Given the description of an element on the screen output the (x, y) to click on. 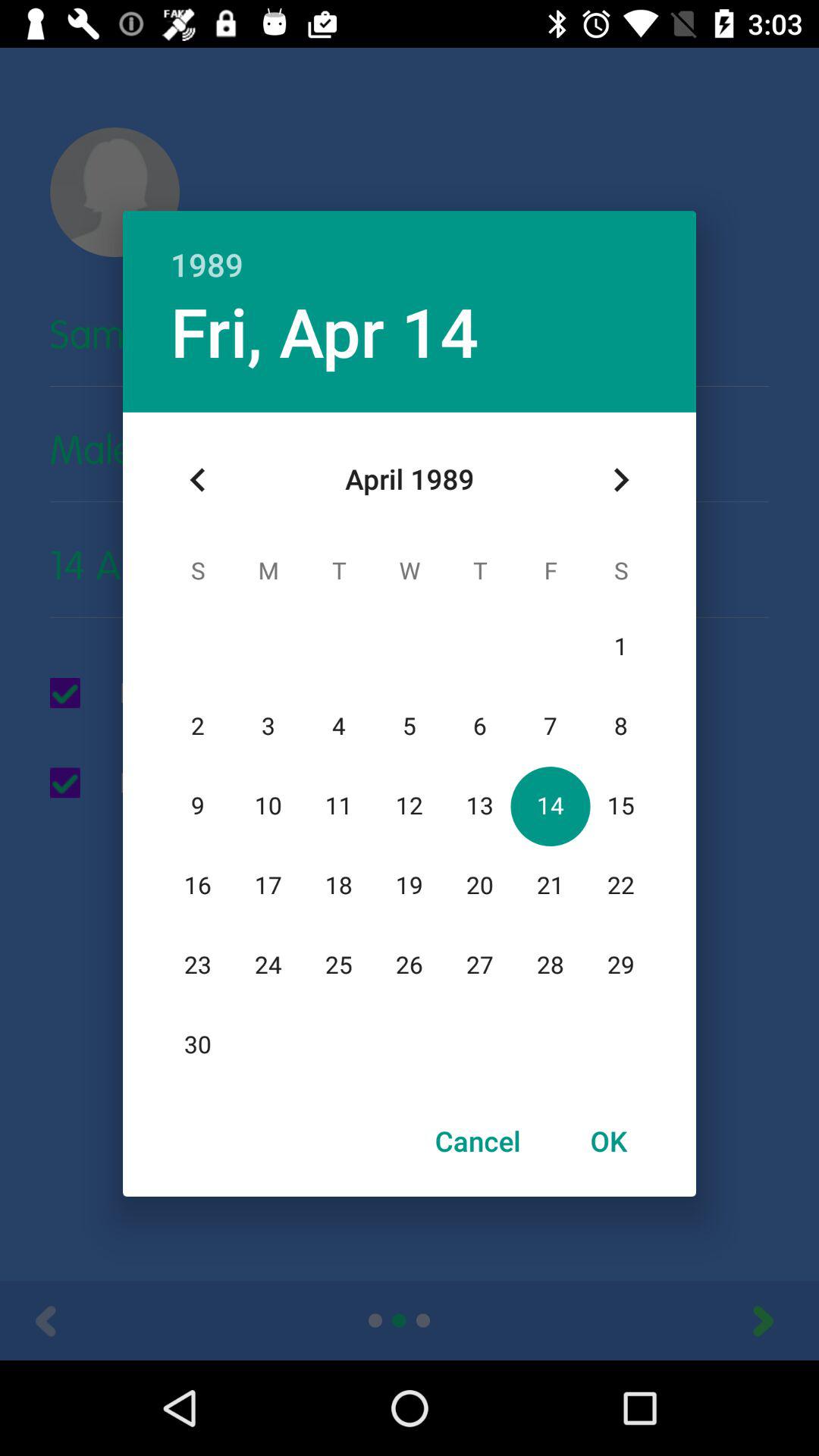
click item to the left of the ok icon (477, 1140)
